Given the description of an element on the screen output the (x, y) to click on. 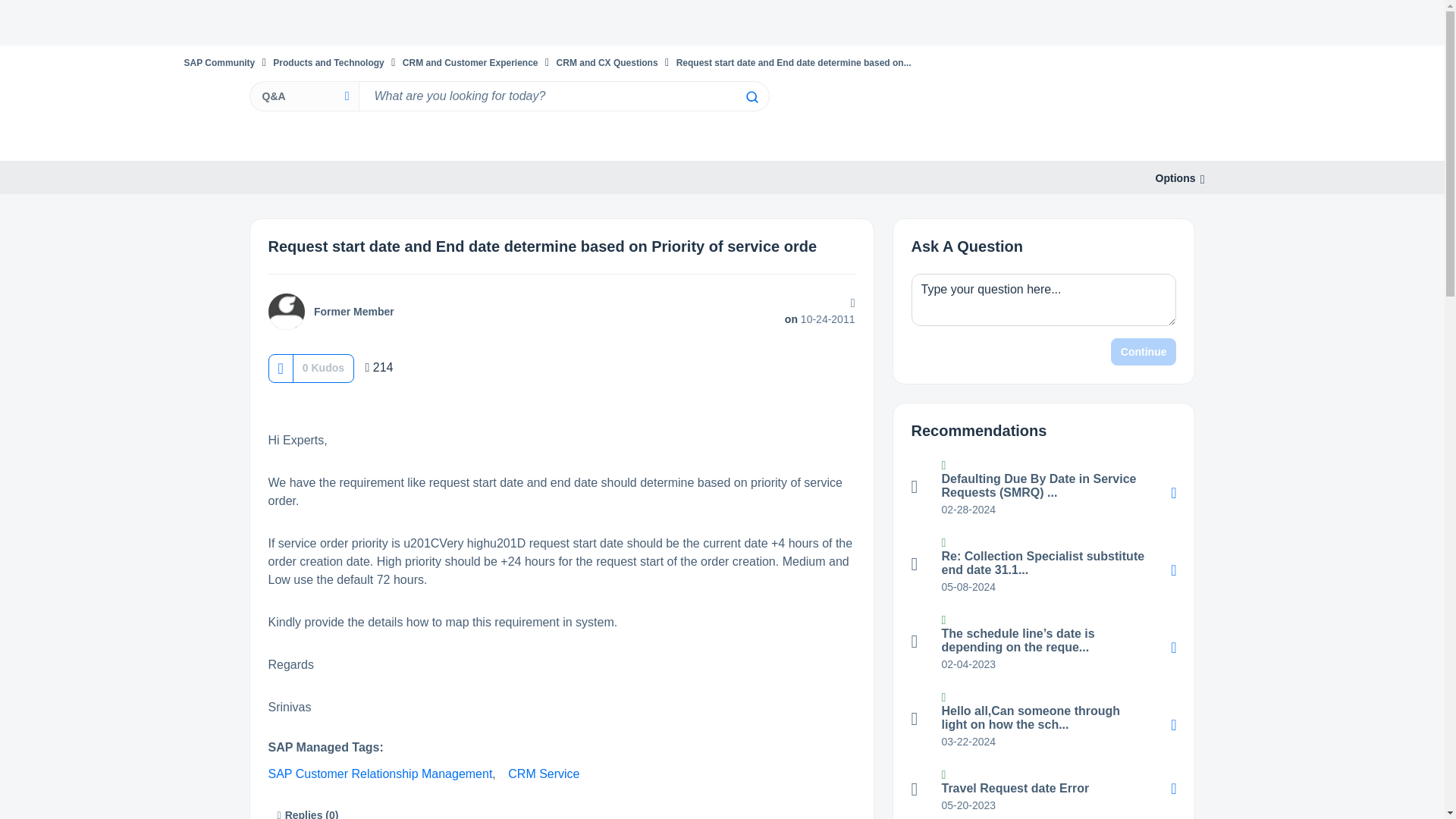
Show option menu (1176, 178)
Continue (1143, 351)
Search (750, 96)
CRM Service (543, 773)
Search (750, 96)
Options (1176, 178)
SAP Community (218, 62)
Search Granularity (303, 96)
Search (750, 96)
The total number of kudos this post has received. (323, 367)
Click here to give kudos to this post. (279, 367)
CRM and Customer Experience (470, 62)
CRM and CX Questions (607, 62)
SAP Customer Relationship Management (380, 773)
Products and Technology (328, 62)
